Given the description of an element on the screen output the (x, y) to click on. 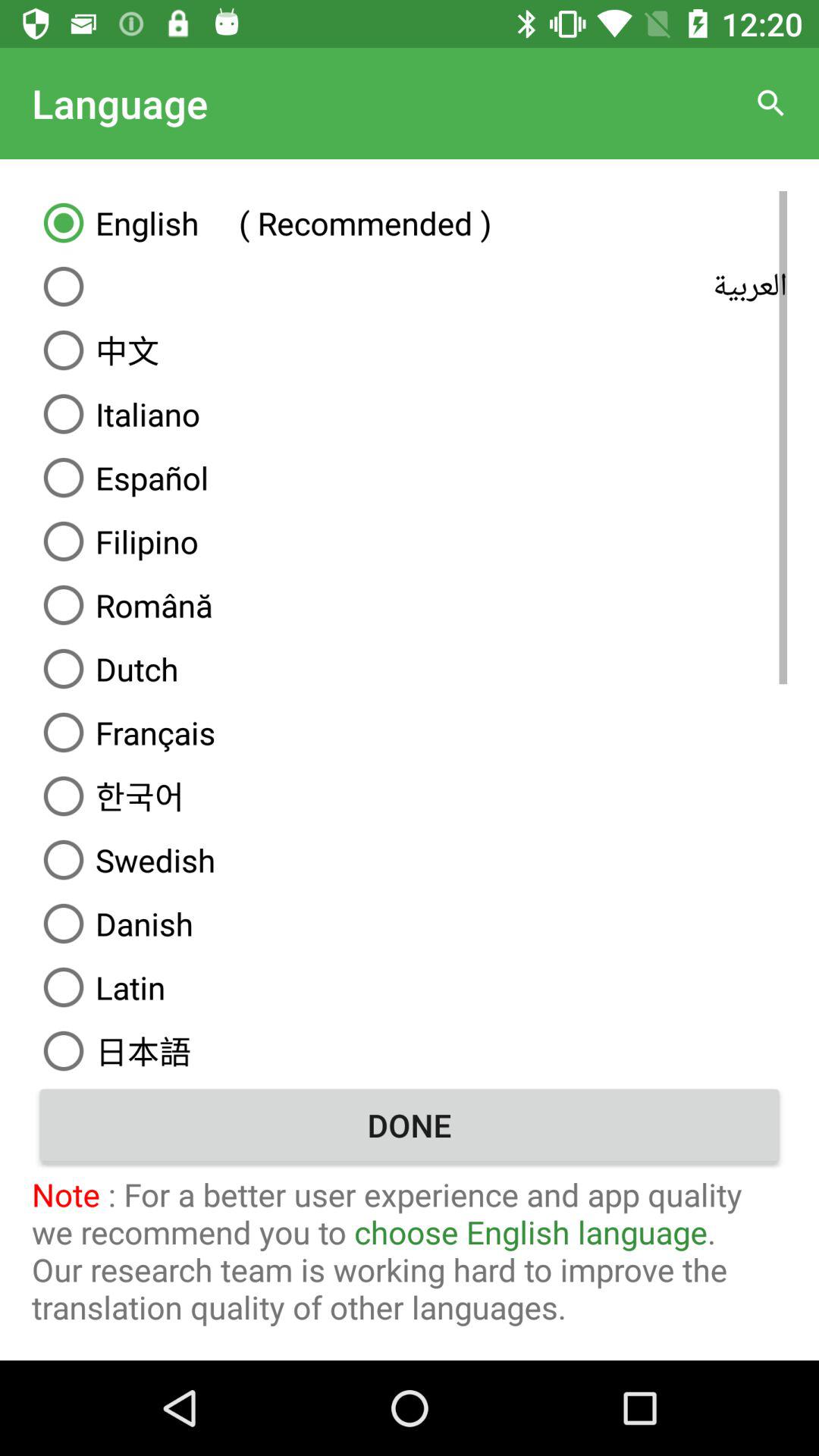
flip to the latin item (409, 987)
